Given the description of an element on the screen output the (x, y) to click on. 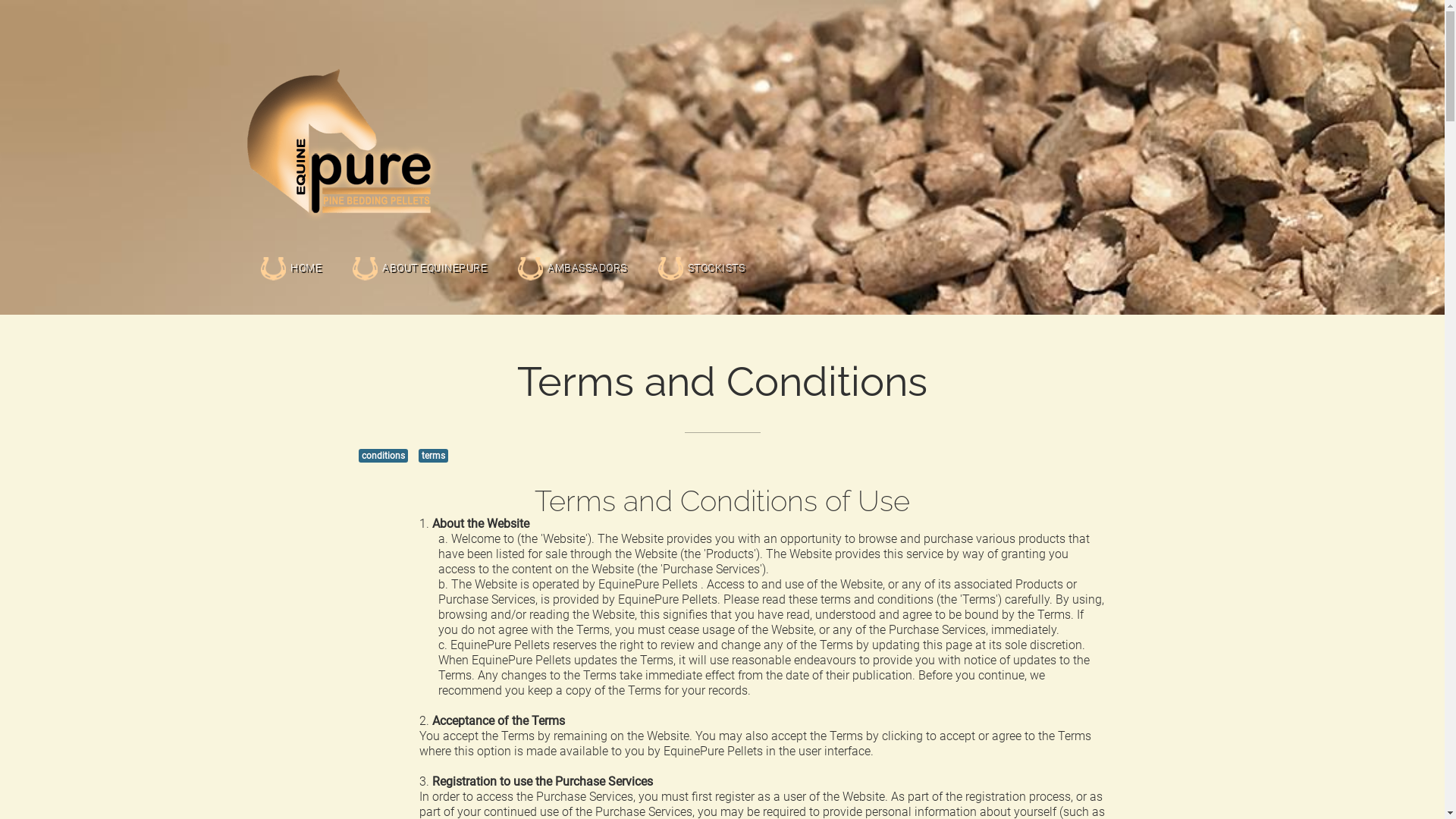
STOCKISTS Element type: text (700, 249)
AMBASSADORS Element type: text (572, 249)
conditions Element type: text (382, 455)
HOME Element type: text (290, 249)
ABOUT EQUINEPURE Element type: text (418, 249)
terms Element type: text (433, 455)
